Given the description of an element on the screen output the (x, y) to click on. 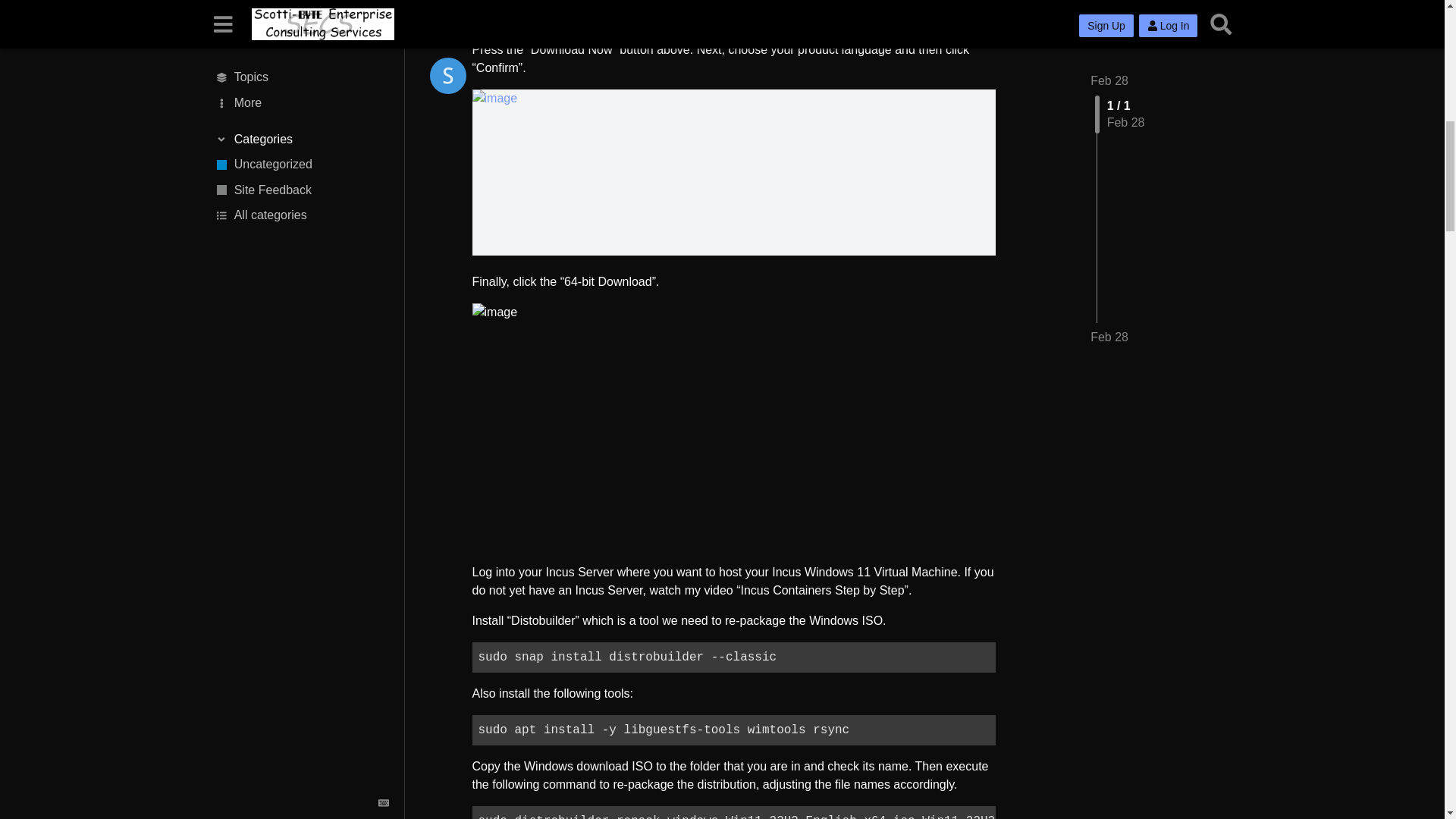
image (732, 172)
